Given the description of an element on the screen output the (x, y) to click on. 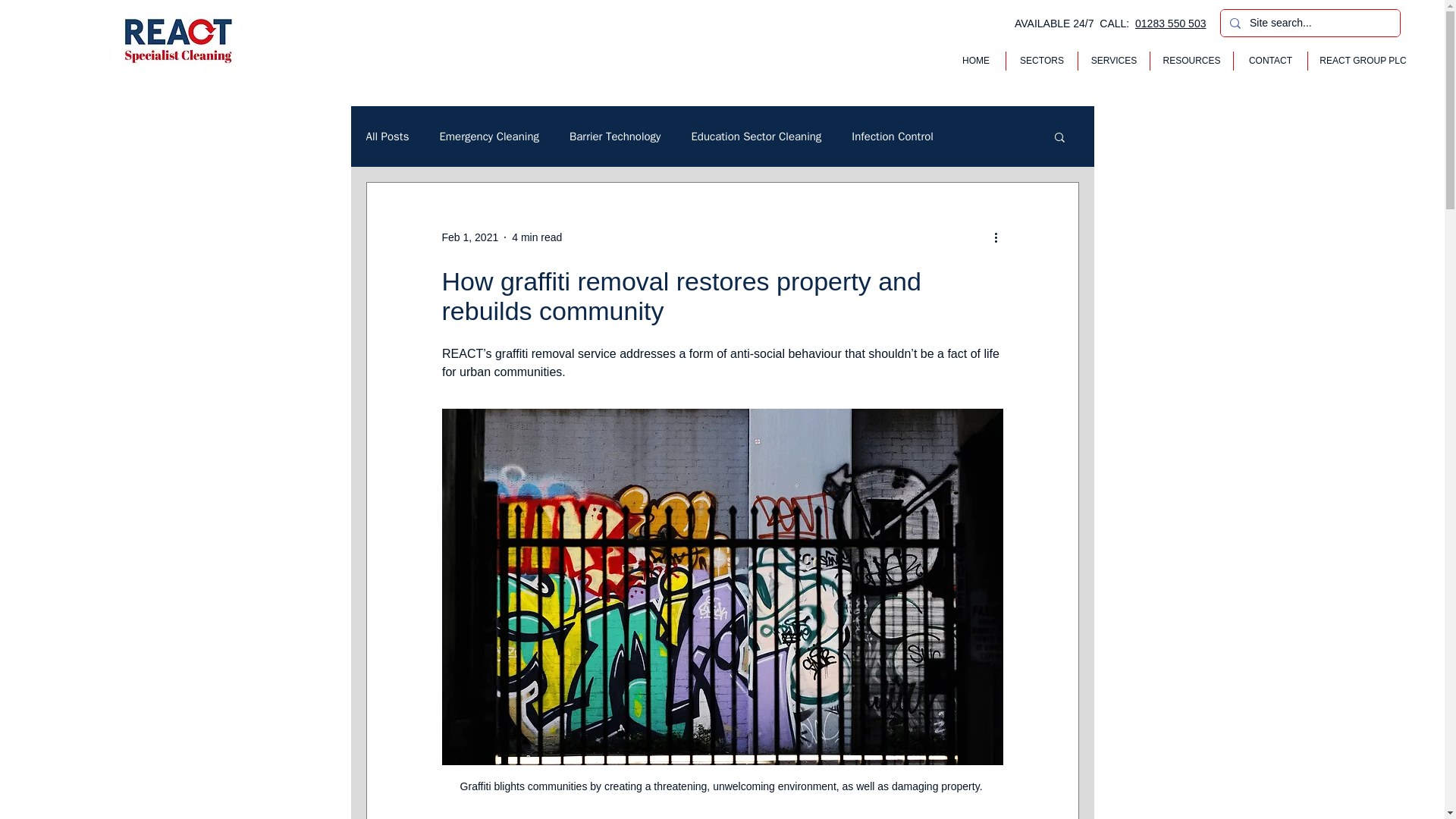
HOME (976, 60)
SERVICES (1114, 60)
Education Sector Cleaning (755, 135)
01283 550 503 (1170, 23)
4 min read (537, 236)
Feb 1, 2021 (469, 236)
Infection Control (892, 135)
CONTACT (1270, 60)
RESOURCES (1191, 60)
All Posts (387, 135)
